Given the description of an element on the screen output the (x, y) to click on. 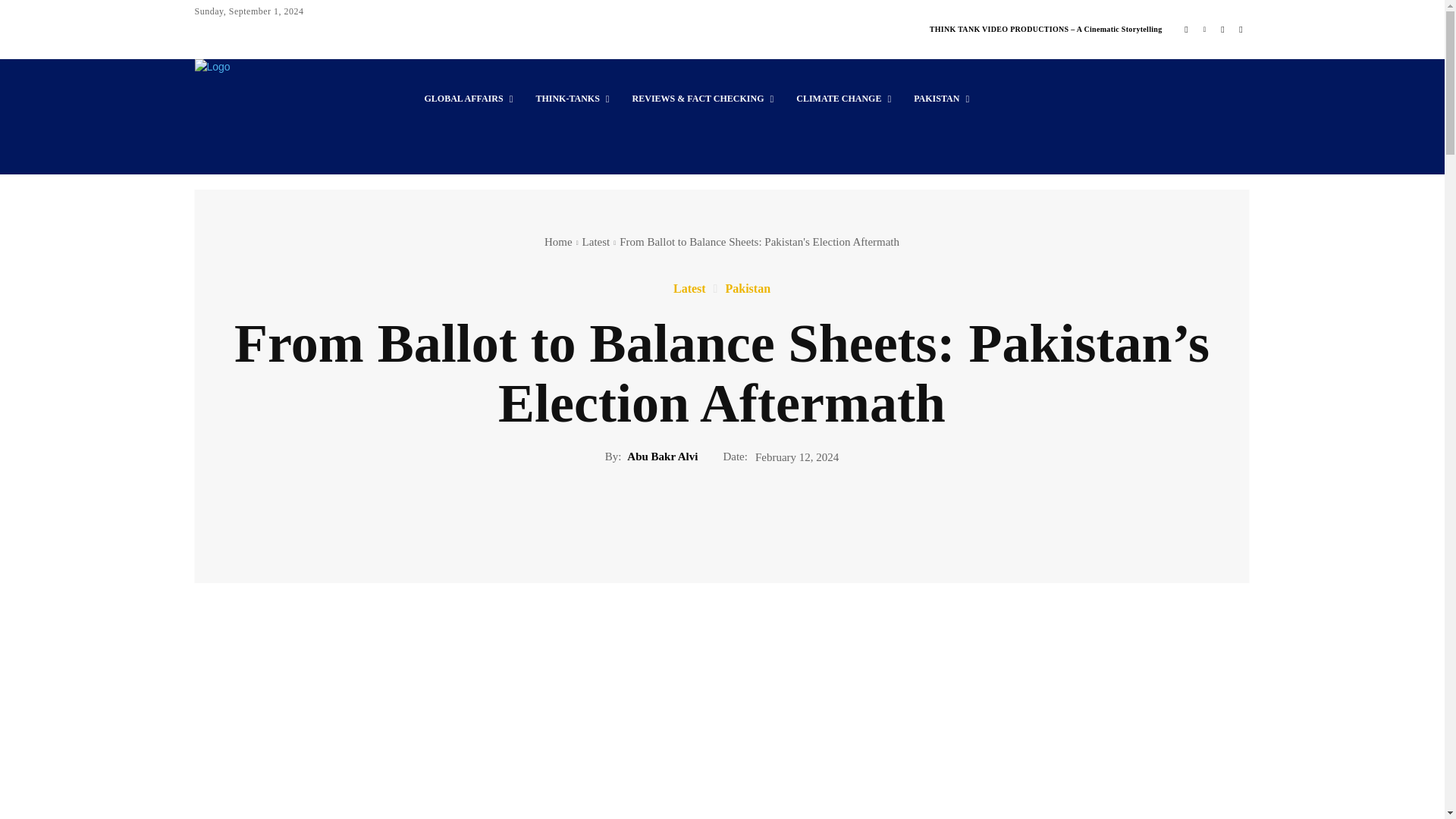
Youtube (1240, 29)
Facebook (1185, 29)
PAKISTAN (940, 98)
Linkedin (1203, 29)
THINK-TANKS (572, 98)
GLOBAL AFFAIRS (468, 98)
CLIMATE CHANGE (843, 98)
Twitter (1221, 29)
